Given the description of an element on the screen output the (x, y) to click on. 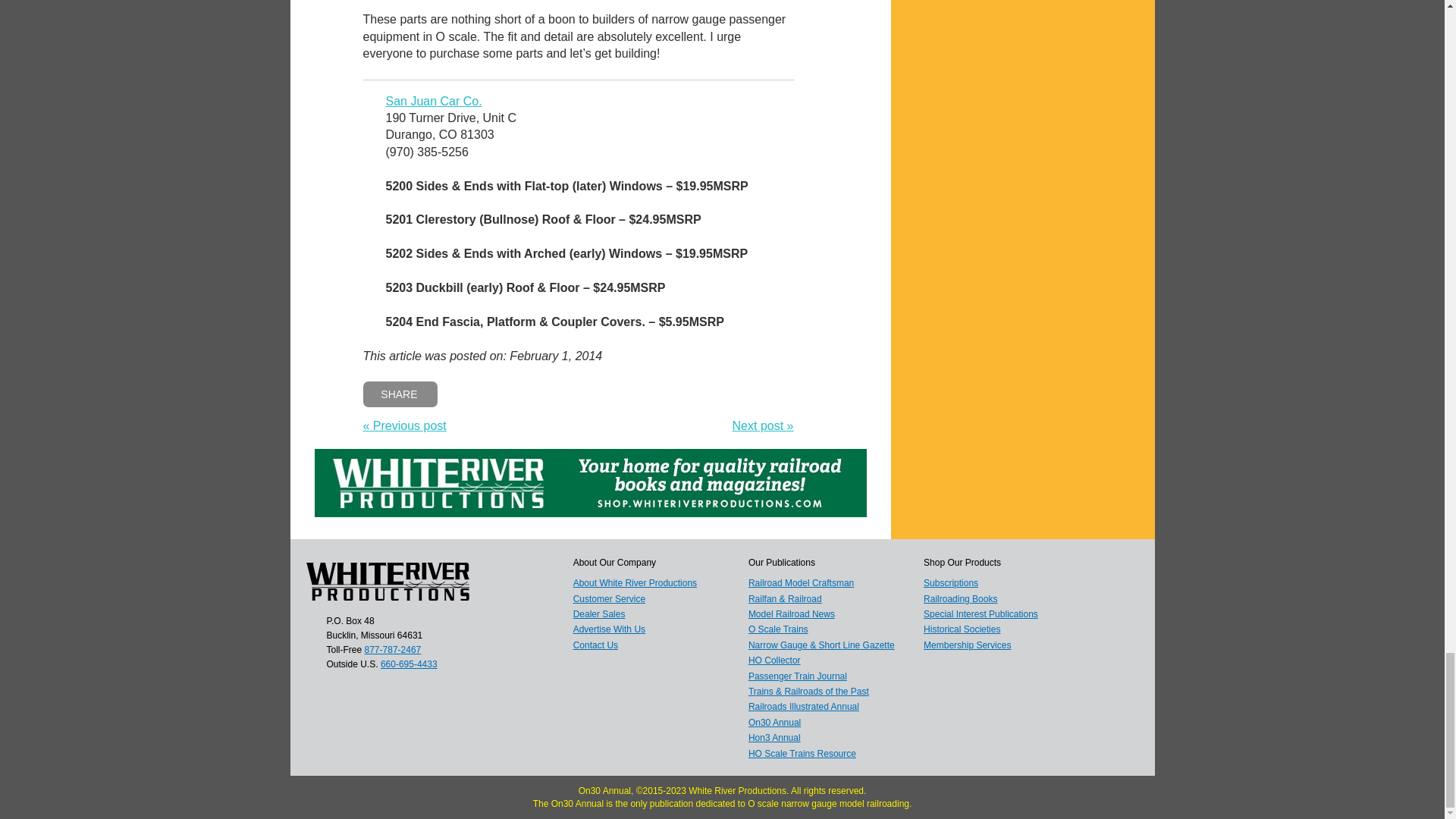
SHARE (400, 394)
Dealer Sales (599, 614)
About White River Productions (635, 583)
San Juan Car Co. (433, 101)
Advertise With Us (609, 629)
Share (400, 394)
877-787-2467 (393, 649)
660-695-4433 (409, 664)
Customer Service (609, 598)
